Given the description of an element on the screen output the (x, y) to click on. 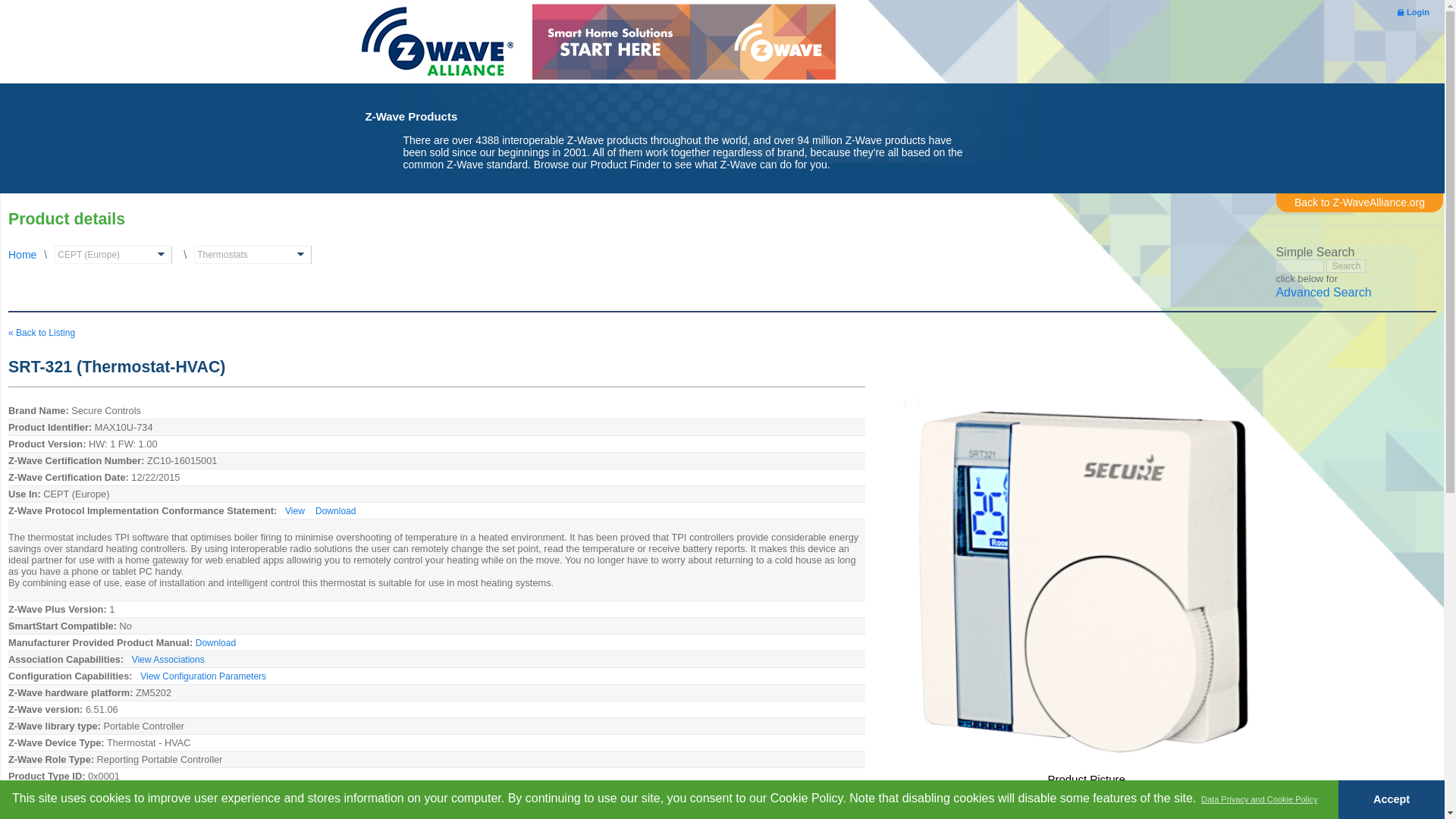
Data Privacy and Cookie Policy (1259, 798)
View Configuration Parameters (202, 675)
Download (215, 643)
Search (1345, 265)
View (294, 511)
Login (1413, 11)
Advanced Search (1323, 292)
 Home (437, 43)
Home (22, 254)
Download (335, 511)
View Associations (168, 659)
Search (1345, 265)
Back to Z-WaveAlliance.org (1359, 202)
View Network Management Info (242, 809)
